Given the description of an element on the screen output the (x, y) to click on. 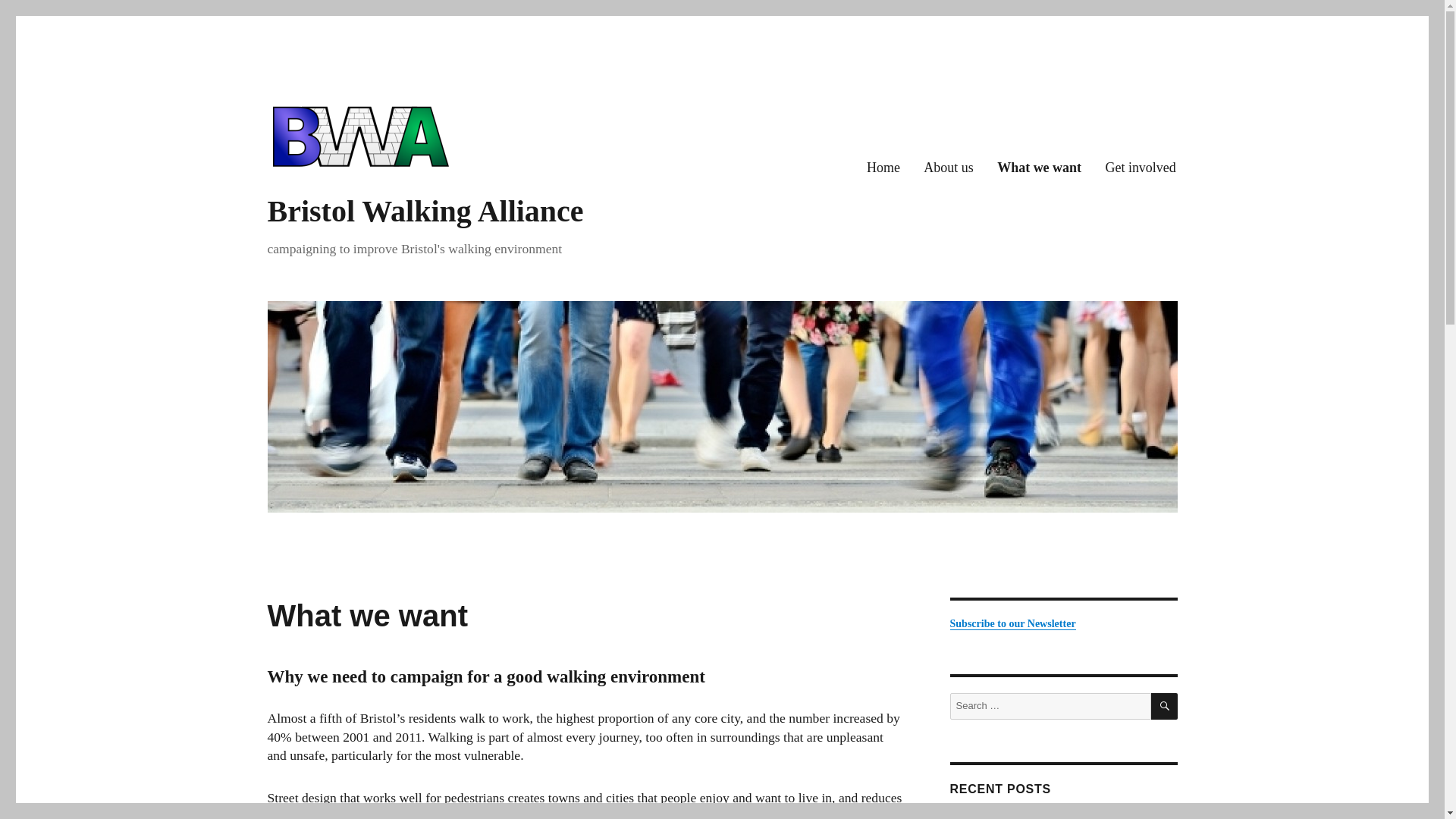
Home (882, 168)
SEARCH (1164, 705)
Bristol Walking Alliance (424, 211)
Subscribe to our Newsletter (1012, 623)
About us (948, 168)
Mead Street planning objection (1029, 810)
Get involved (1140, 168)
What we want (1039, 168)
